Given the description of an element on the screen output the (x, y) to click on. 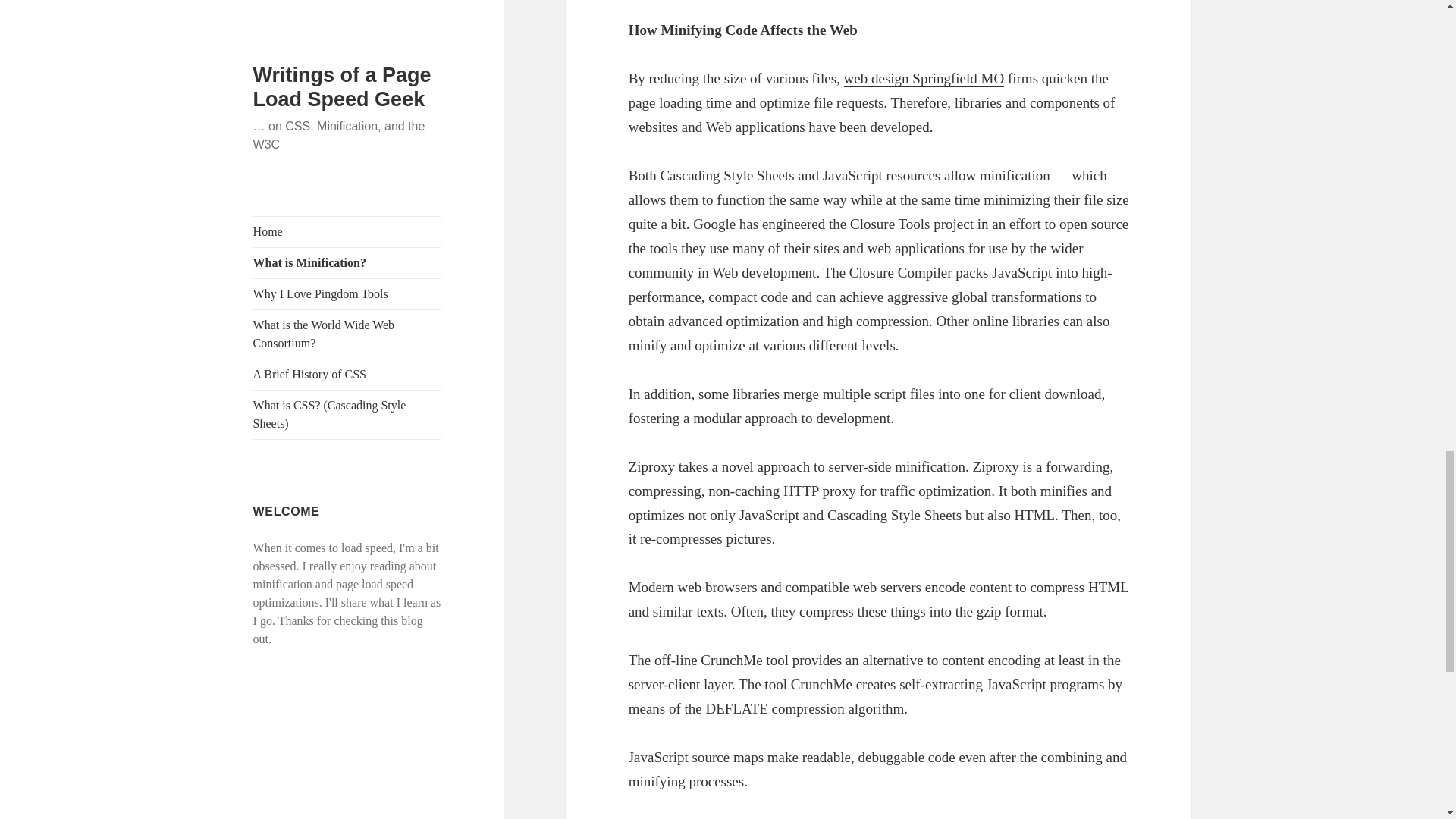
web design Springfield MO (924, 78)
Ziproxy (651, 466)
